Given the description of an element on the screen output the (x, y) to click on. 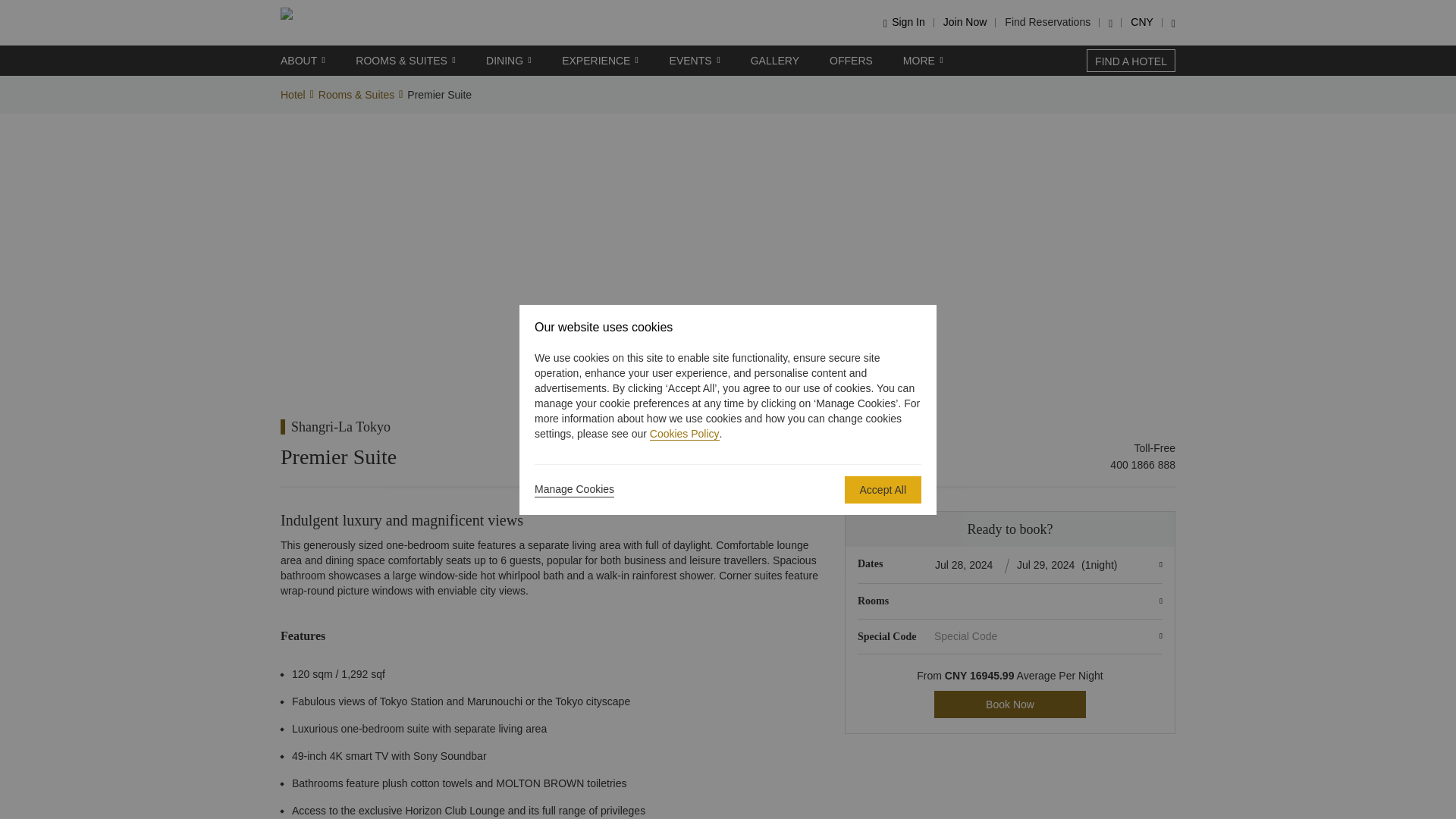
Jul 28, 2024 (965, 564)
ABOUT (302, 60)
Find Reservations (1047, 21)
EXPERIENCE (600, 60)
DINING (508, 60)
Jul 29, 2024 (1047, 564)
EVENTS (694, 60)
